Given the description of an element on the screen output the (x, y) to click on. 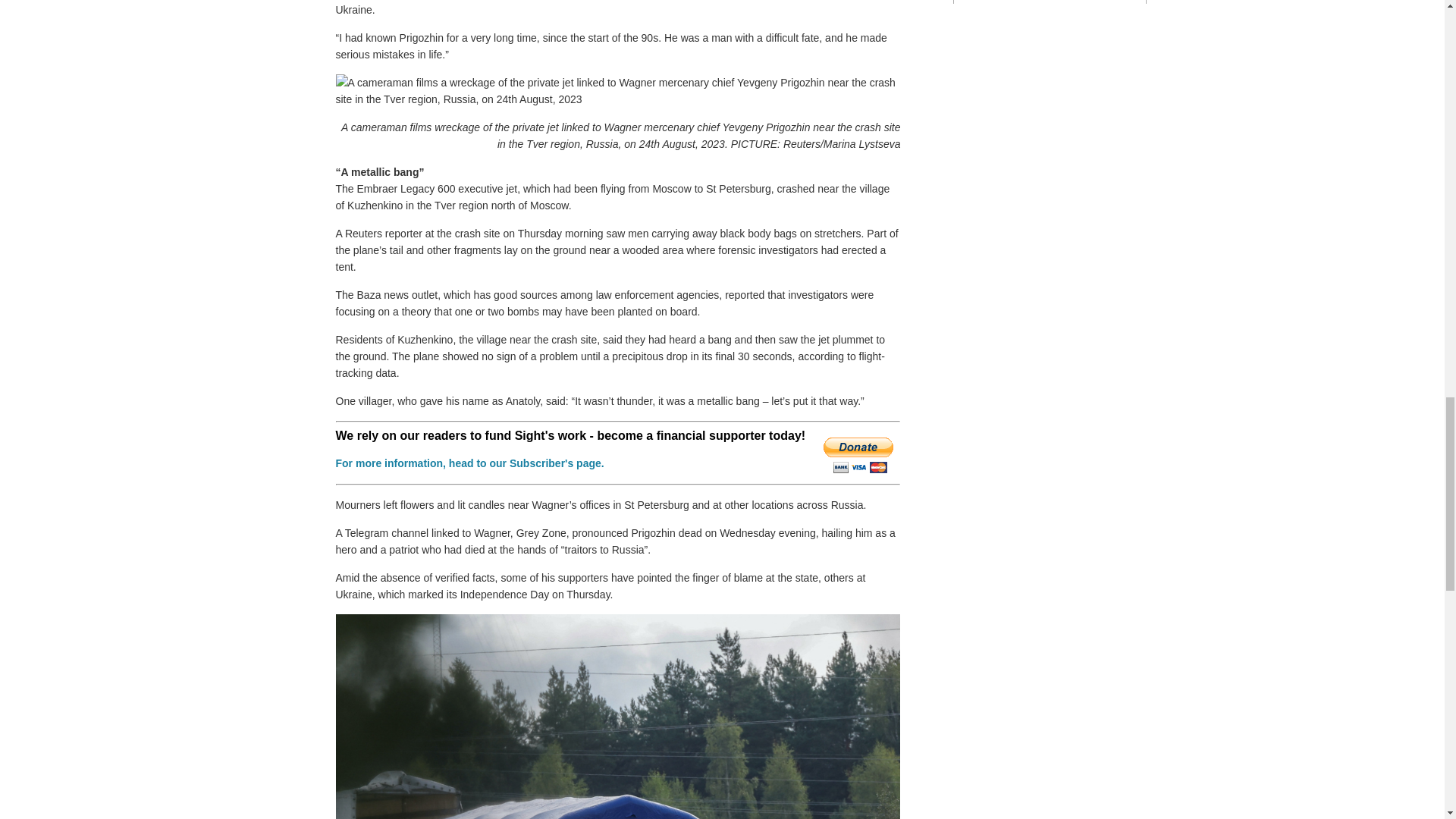
PayPal - The safer, easier way to pay online! (858, 455)
